Given the description of an element on the screen output the (x, y) to click on. 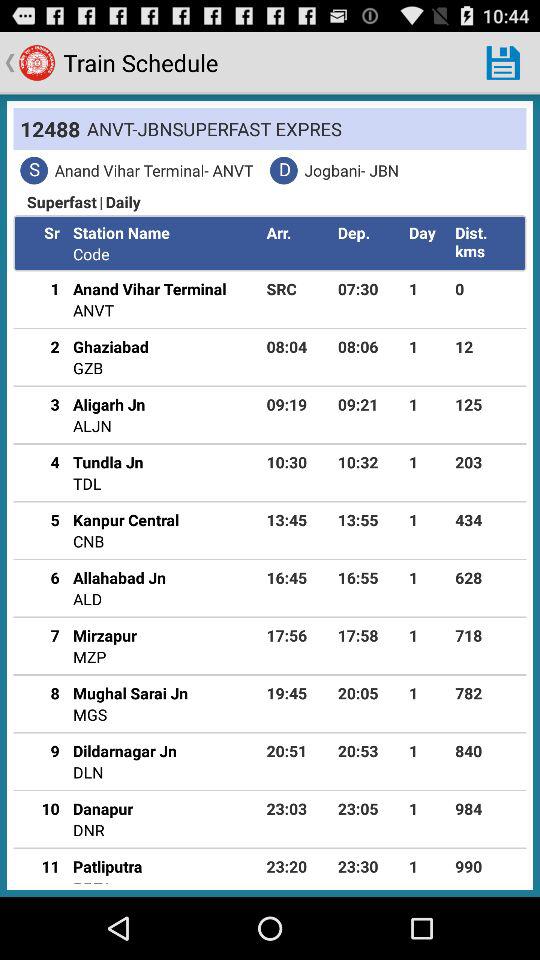
turn off the icon to the right of the anand vihar terminal icon (298, 288)
